Given the description of an element on the screen output the (x, y) to click on. 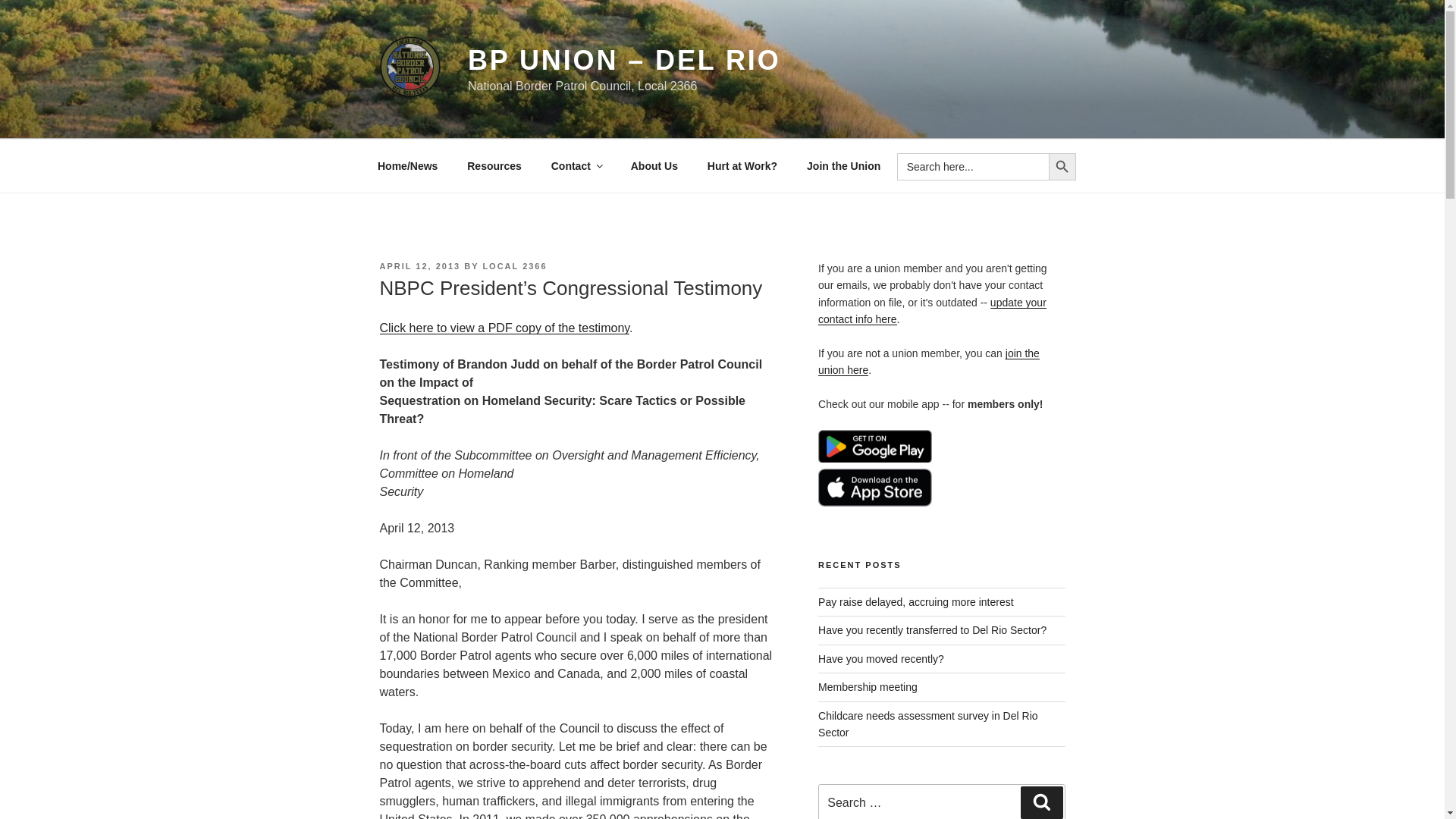
update your contact info here (932, 310)
Childcare needs assessment survey in Del Rio Sector (927, 724)
Contact (575, 165)
Have you moved recently? (880, 658)
Resources (494, 165)
Click here to view a PDF copy of the testimony (503, 327)
Hurt at Work? (742, 165)
Have you recently transferred to Del Rio Sector? (932, 630)
Pay raise delayed, accruing more interest (915, 602)
About Us (653, 165)
